Given the description of an element on the screen output the (x, y) to click on. 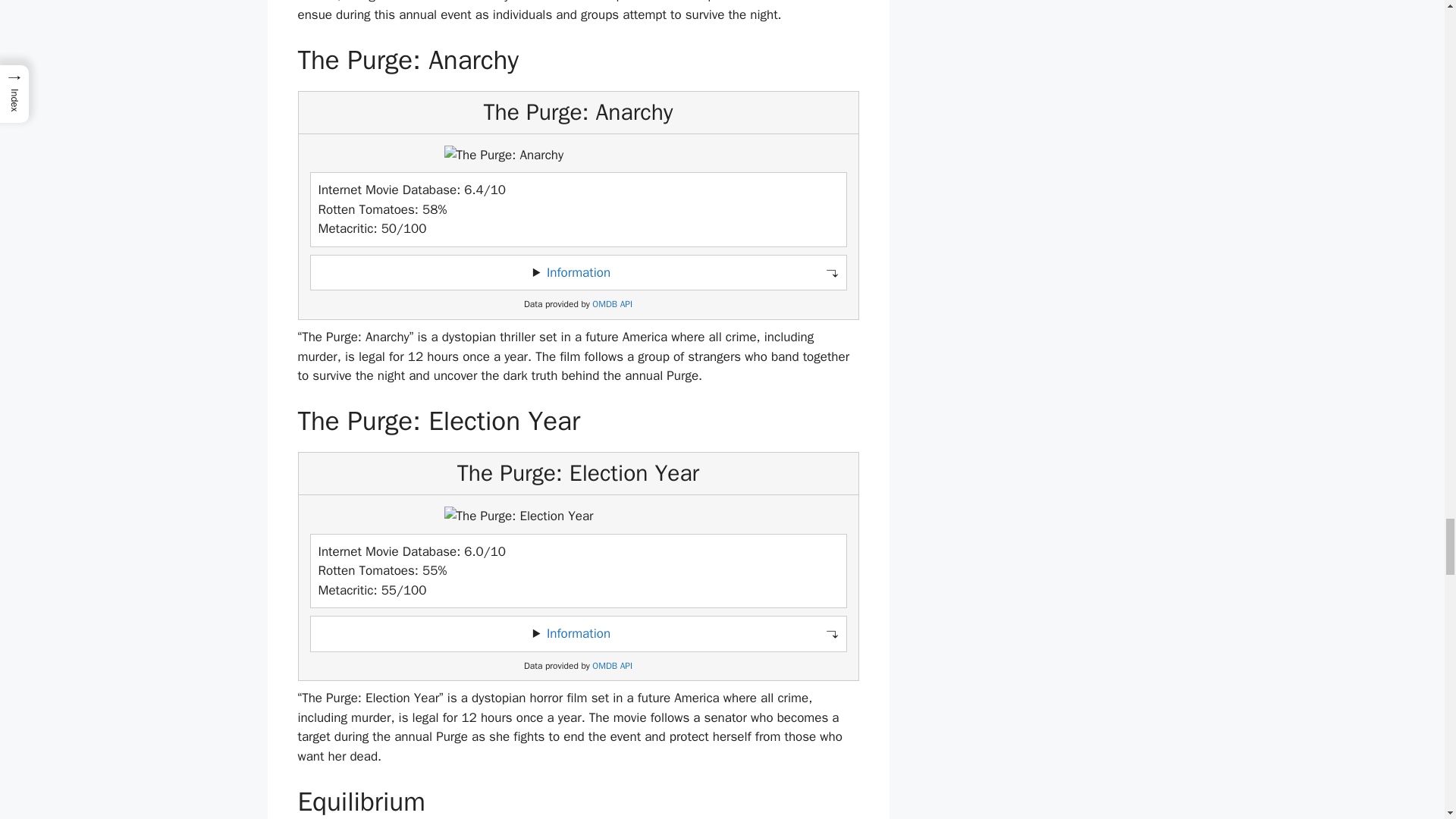
OMDB API (611, 304)
Information (578, 272)
OMDB API (611, 665)
Information (578, 633)
